Given the description of an element on the screen output the (x, y) to click on. 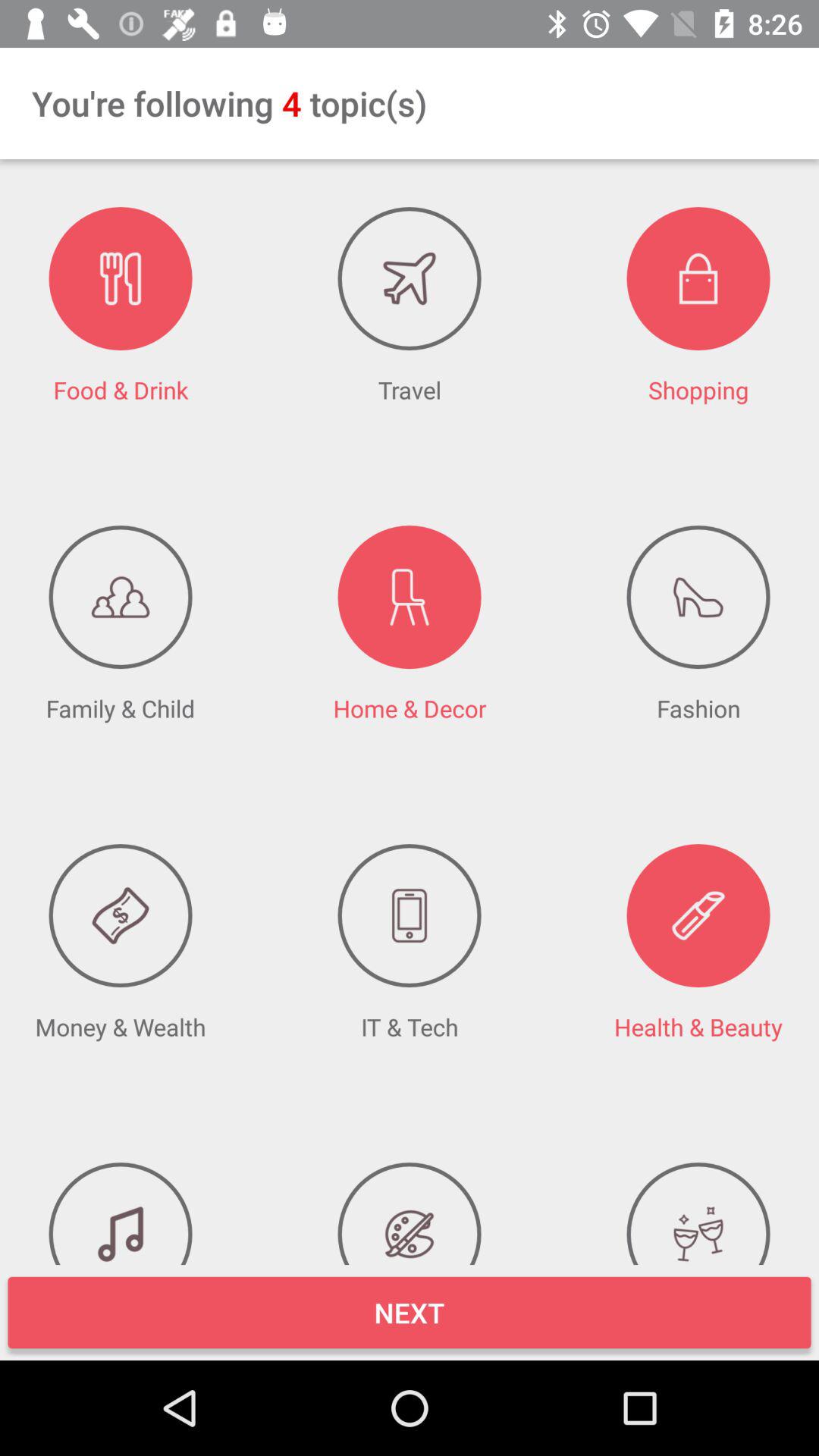
flip until the next (409, 1312)
